Given the description of an element on the screen output the (x, y) to click on. 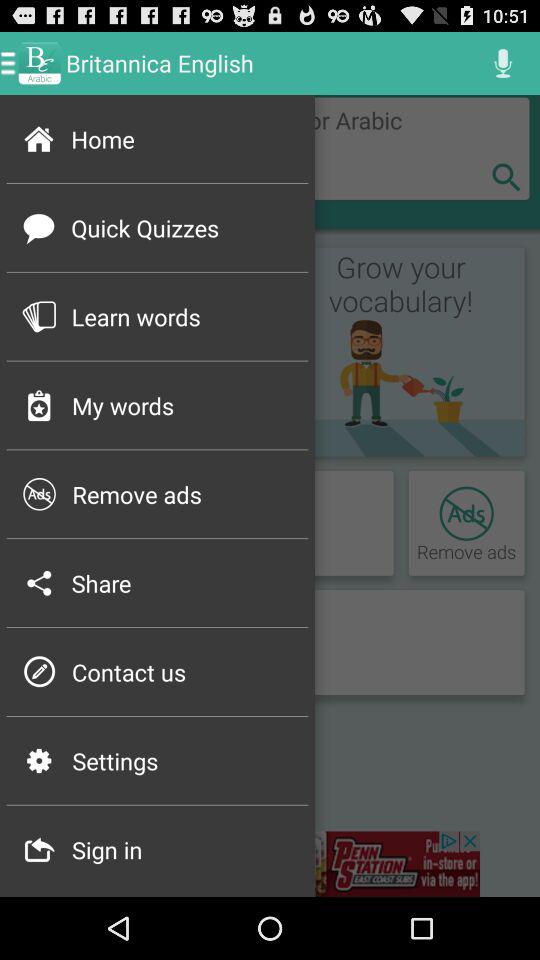
turn on icon to the right of a (270, 863)
